Given the description of an element on the screen output the (x, y) to click on. 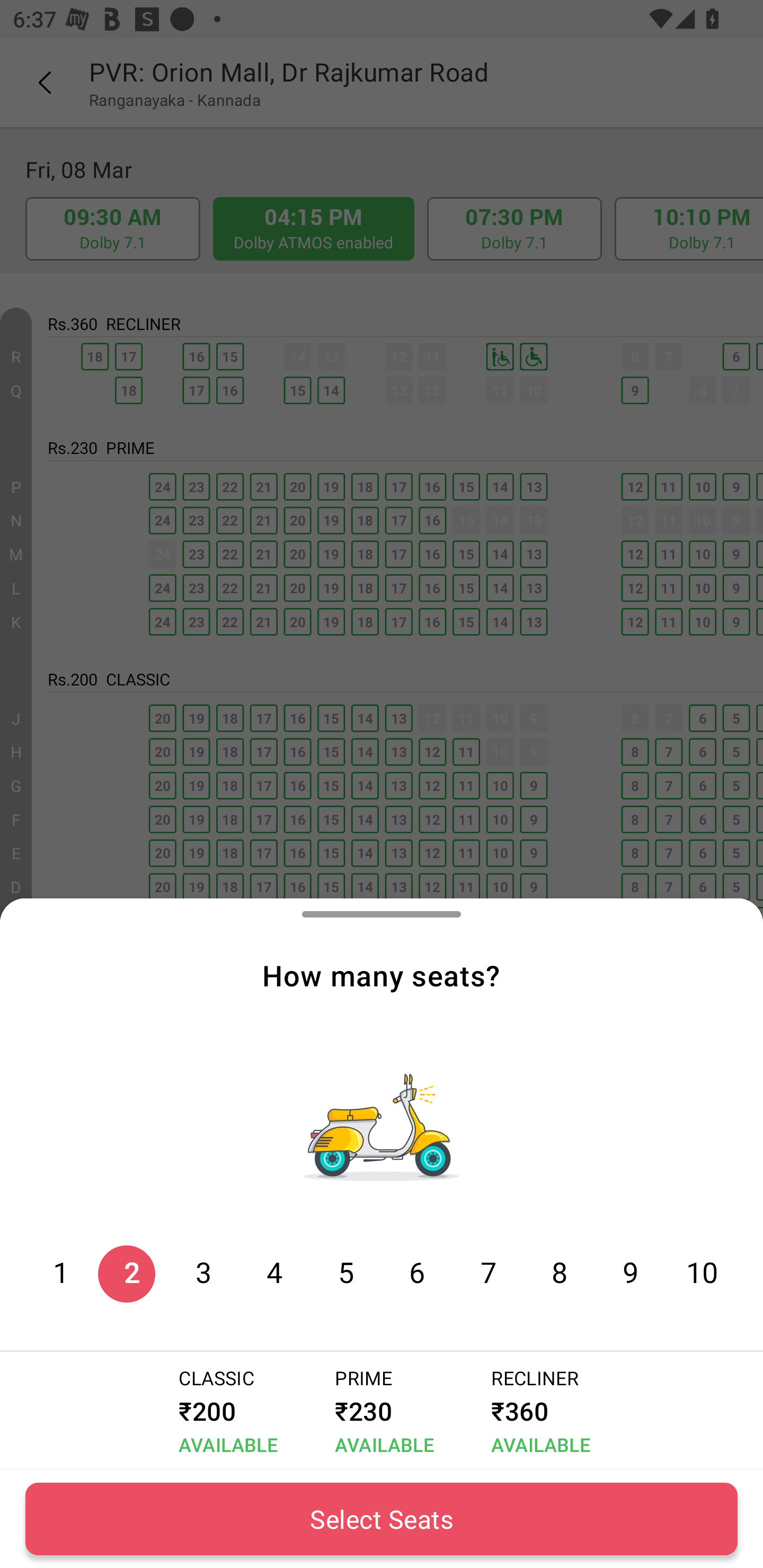
CLASSIC ₹200 AVAILABLE (224, 1410)
PRIME ₹230 AVAILABLE (380, 1410)
RECLINER ₹360 AVAILABLE (537, 1410)
Select Seats (381, 1519)
